Given the description of an element on the screen output the (x, y) to click on. 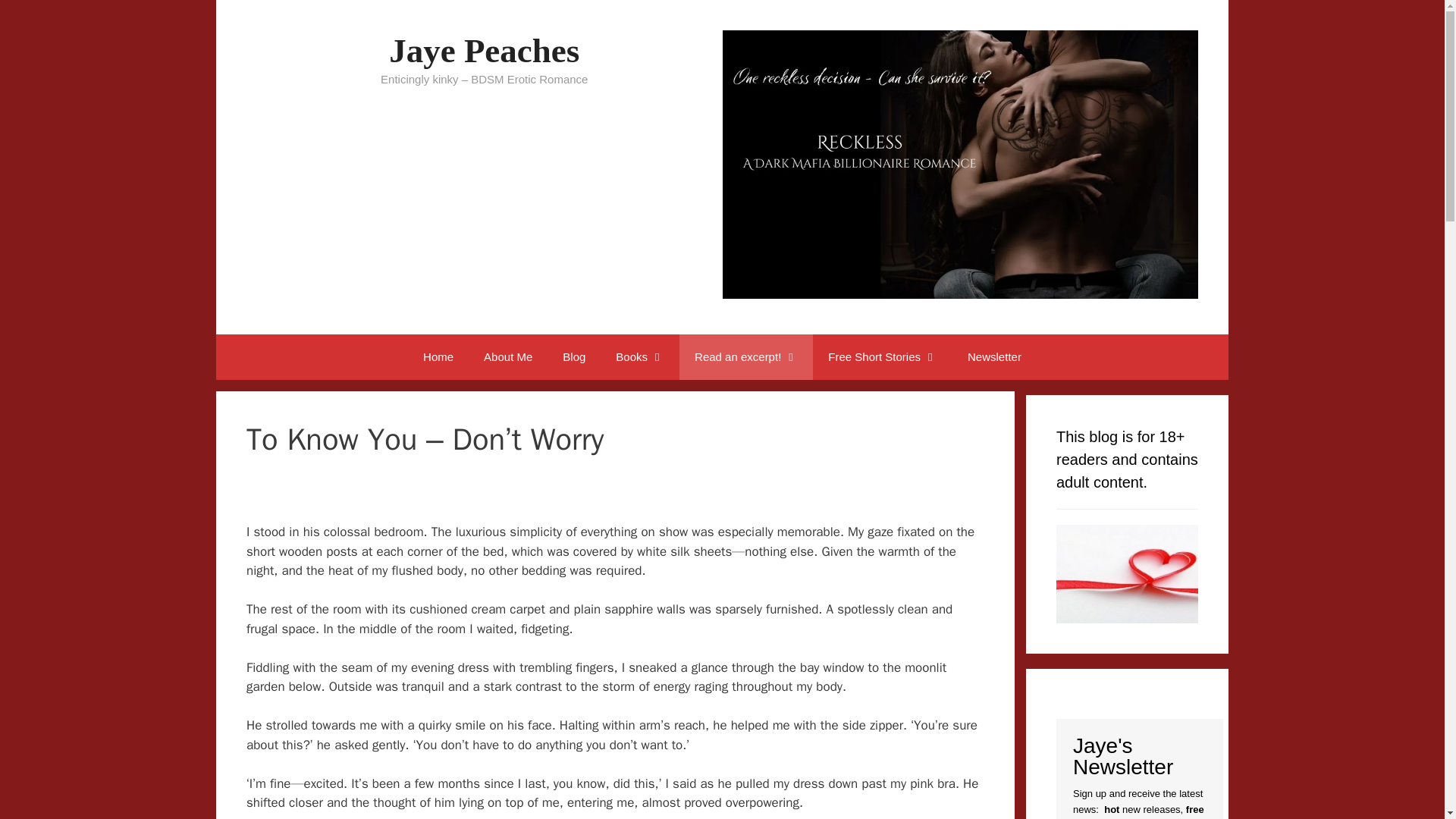
Blog (573, 357)
Home (437, 357)
Jaye Peaches (483, 50)
About Me (507, 357)
Books (639, 357)
